Given the description of an element on the screen output the (x, y) to click on. 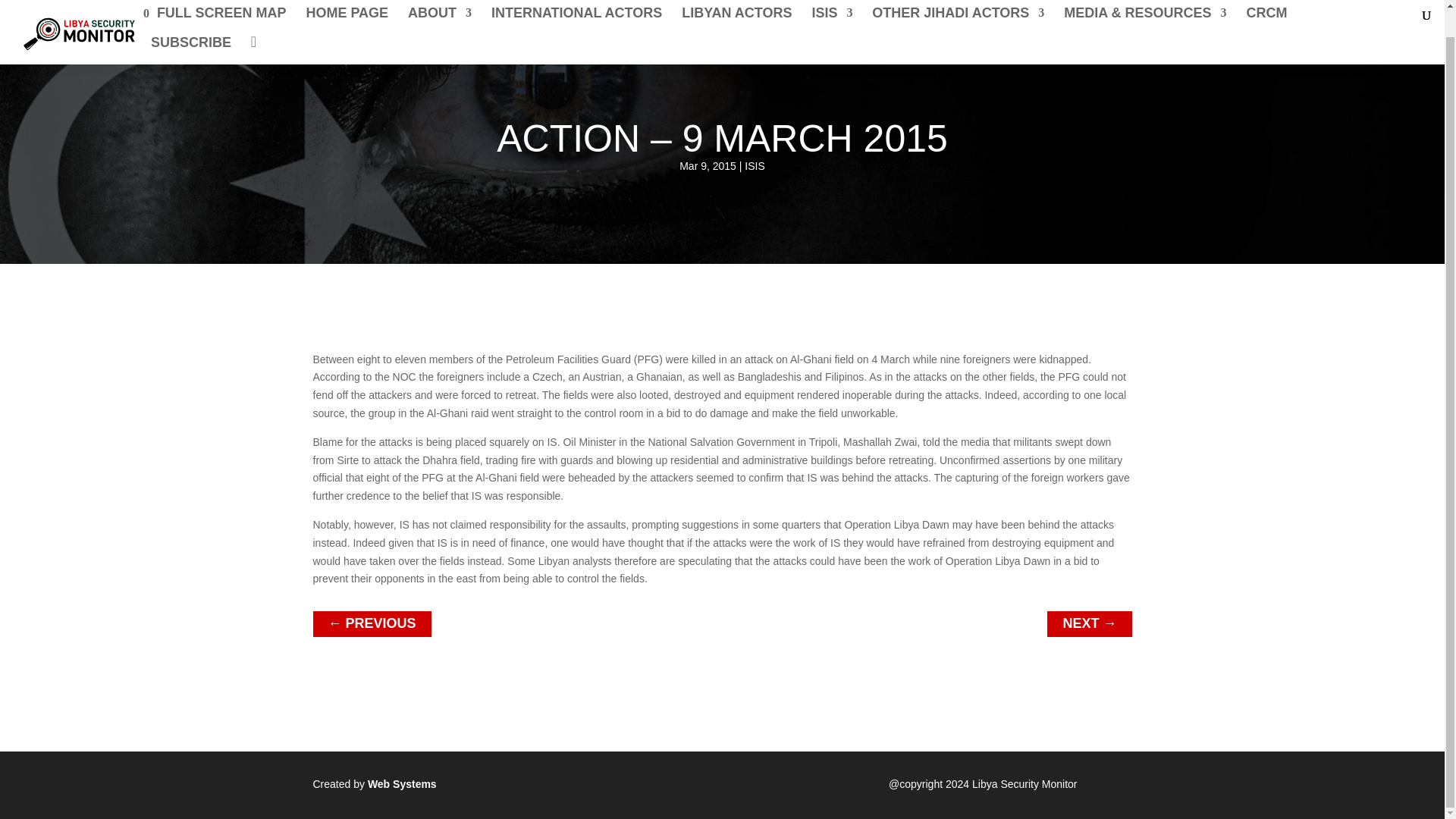
INTERNATIONAL ACTORS (577, 2)
ABOUT (439, 2)
SUBSCRIBE (191, 22)
ISIS (830, 2)
FULL SCREEN MAP (218, 3)
OTHER JIHADI ACTORS (957, 2)
HOME PAGE (346, 2)
CRCM (1266, 2)
LIBYAN ACTORS (736, 2)
